Given the description of an element on the screen output the (x, y) to click on. 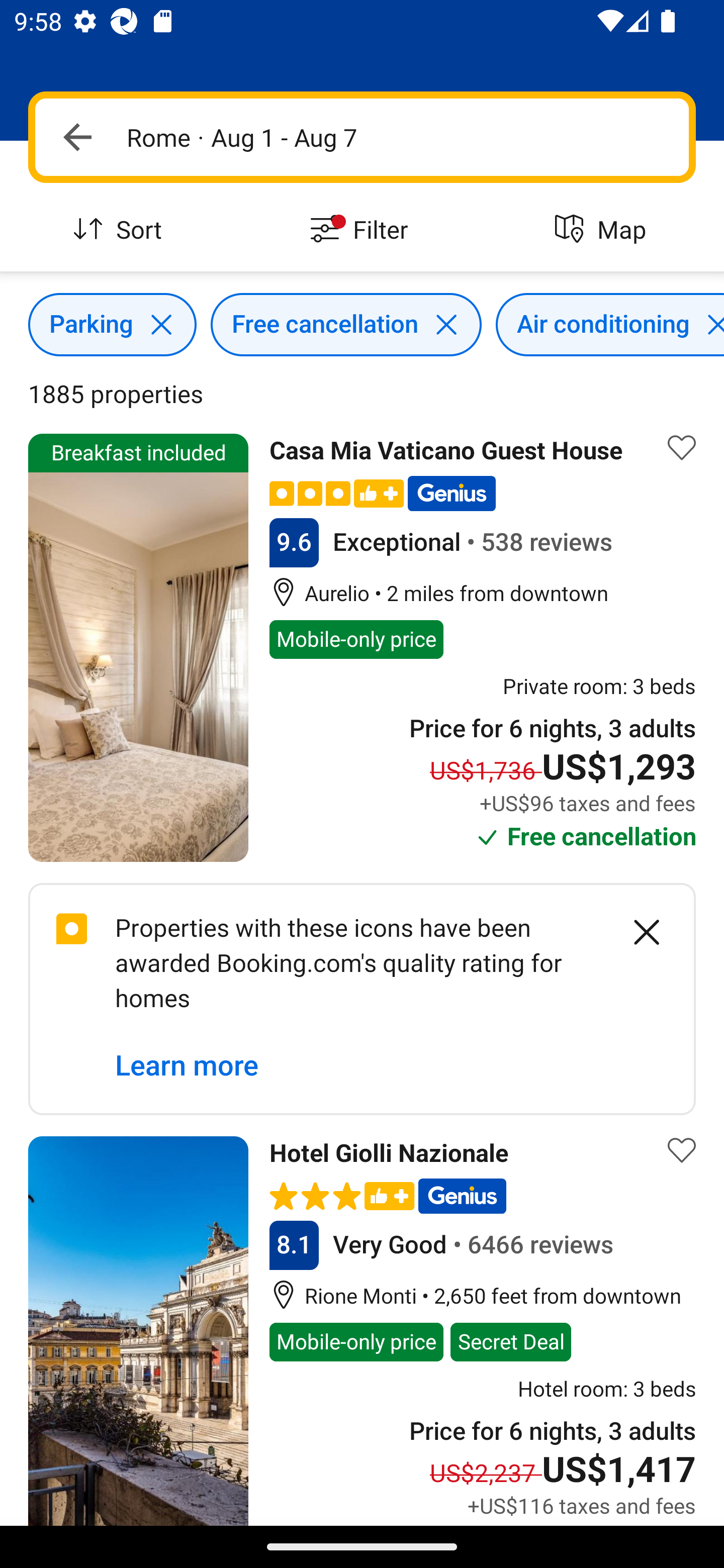
Navigate up Rome · Aug 1 - Aug 7 (362, 136)
Navigate up (77, 136)
Sort (120, 230)
Filter (361, 230)
Map (603, 230)
Save property to list (681, 447)
Clear (635, 931)
Learn more (187, 1065)
Save property to list (681, 1150)
